Given the description of an element on the screen output the (x, y) to click on. 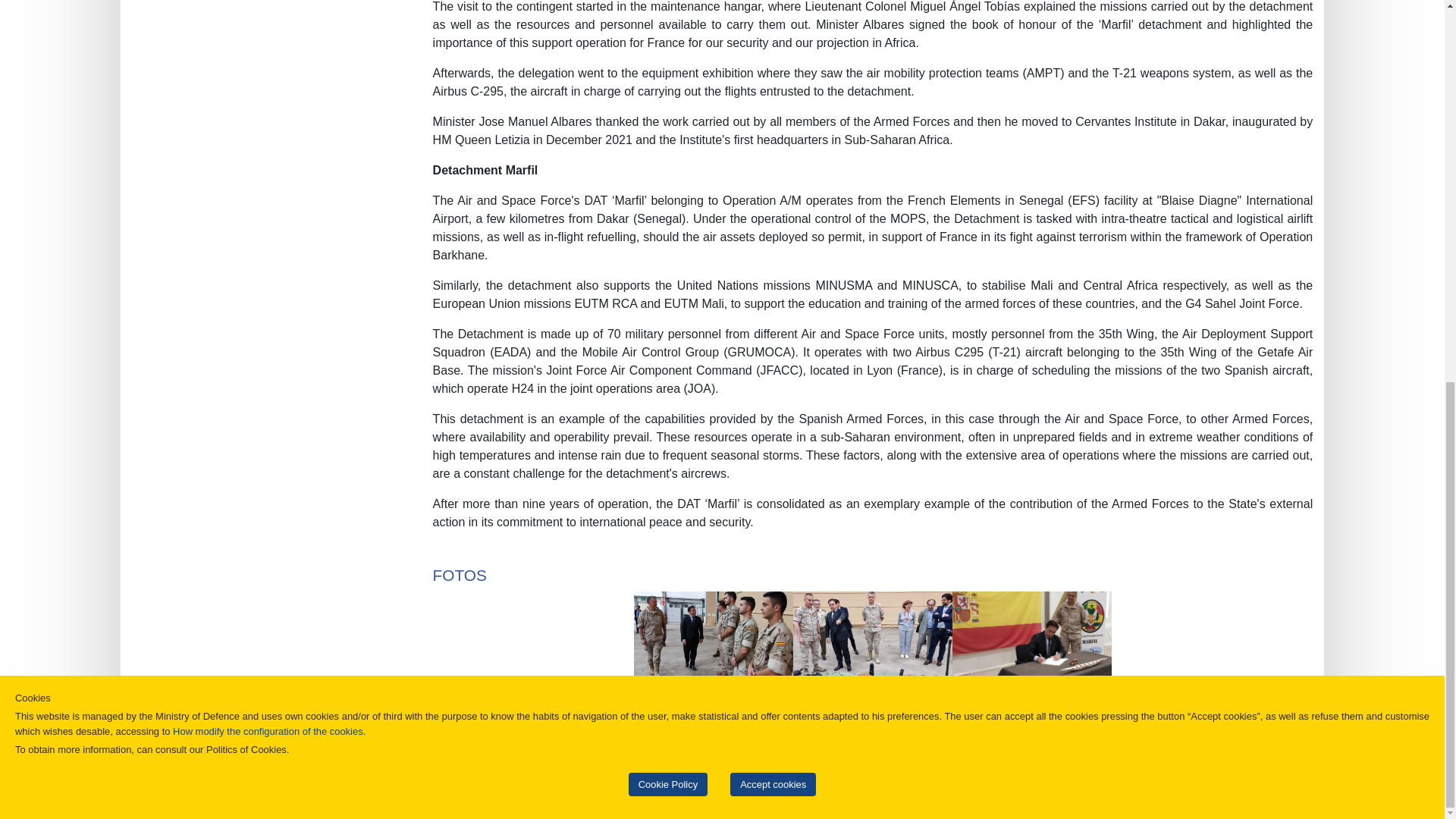
Privacy Policy (744, 766)
Go to cookie policy (267, 16)
Accessibility (581, 766)
Cookies policy (833, 766)
Cookie Policy (667, 69)
Web map (509, 766)
RSS Channel (923, 766)
Accept cookies (772, 69)
How modify the configuration of the cookies (267, 16)
Legal notice (660, 766)
